Given the description of an element on the screen output the (x, y) to click on. 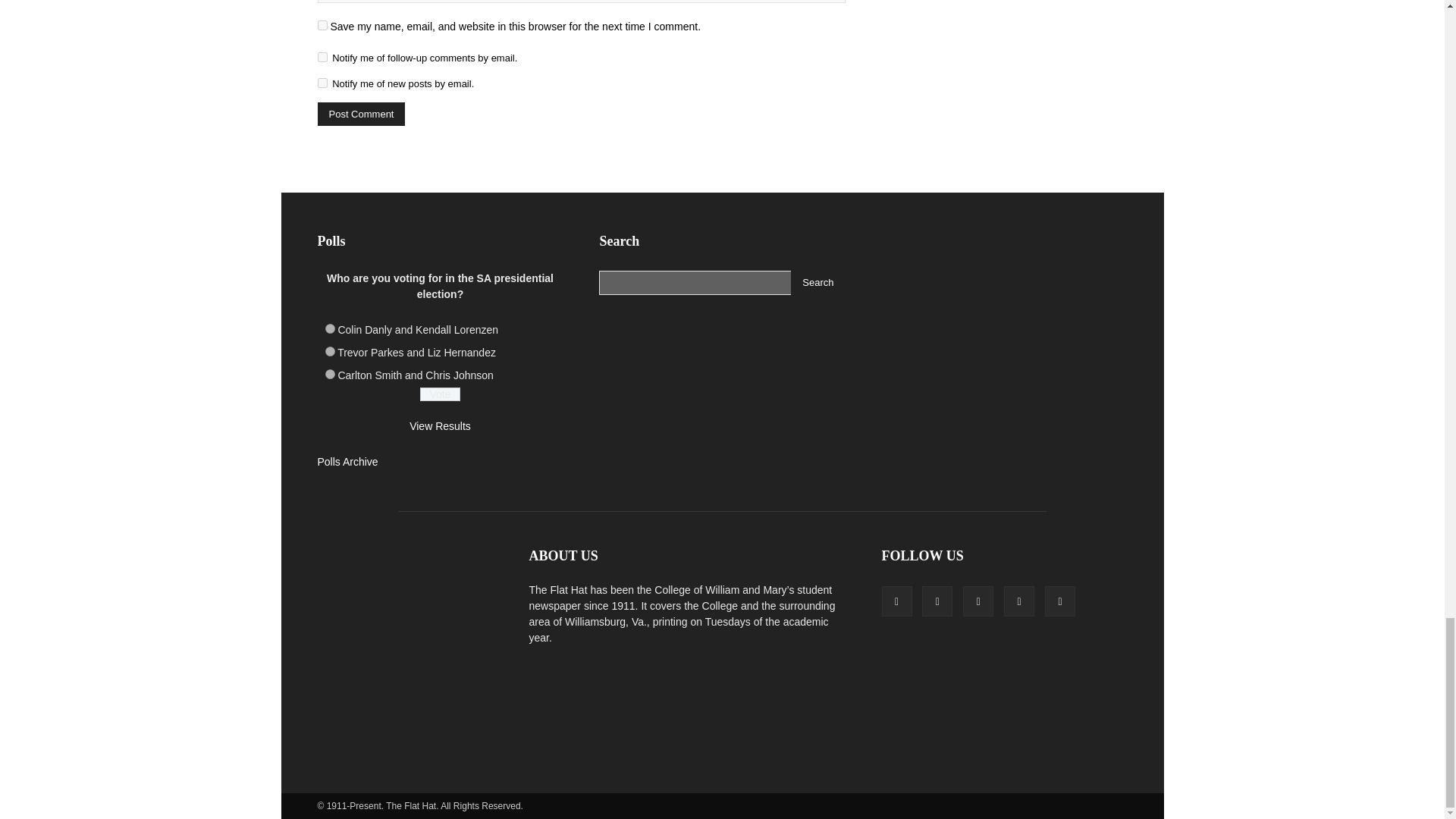
105 (329, 351)
106 (329, 374)
subscribe (321, 57)
   Vote    (440, 394)
Search (817, 282)
subscribe (321, 82)
104 (329, 328)
yes (321, 25)
Post Comment (360, 114)
